Given the description of an element on the screen output the (x, y) to click on. 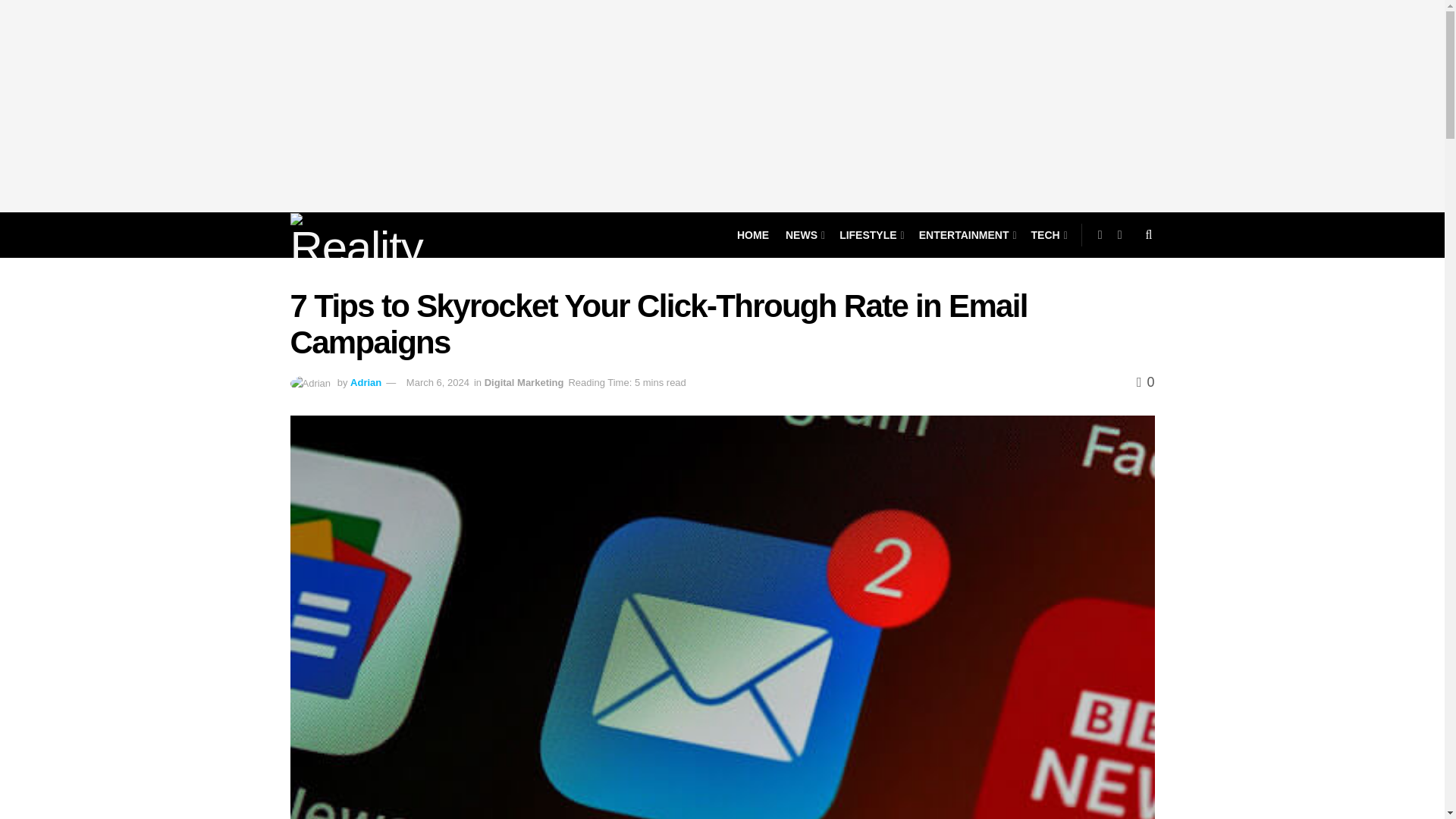
0 (1145, 381)
LIFESTYLE (871, 234)
March 6, 2024 (437, 382)
ENTERTAINMENT (966, 234)
Digital Marketing (524, 382)
Adrian (365, 382)
